Given the description of an element on the screen output the (x, y) to click on. 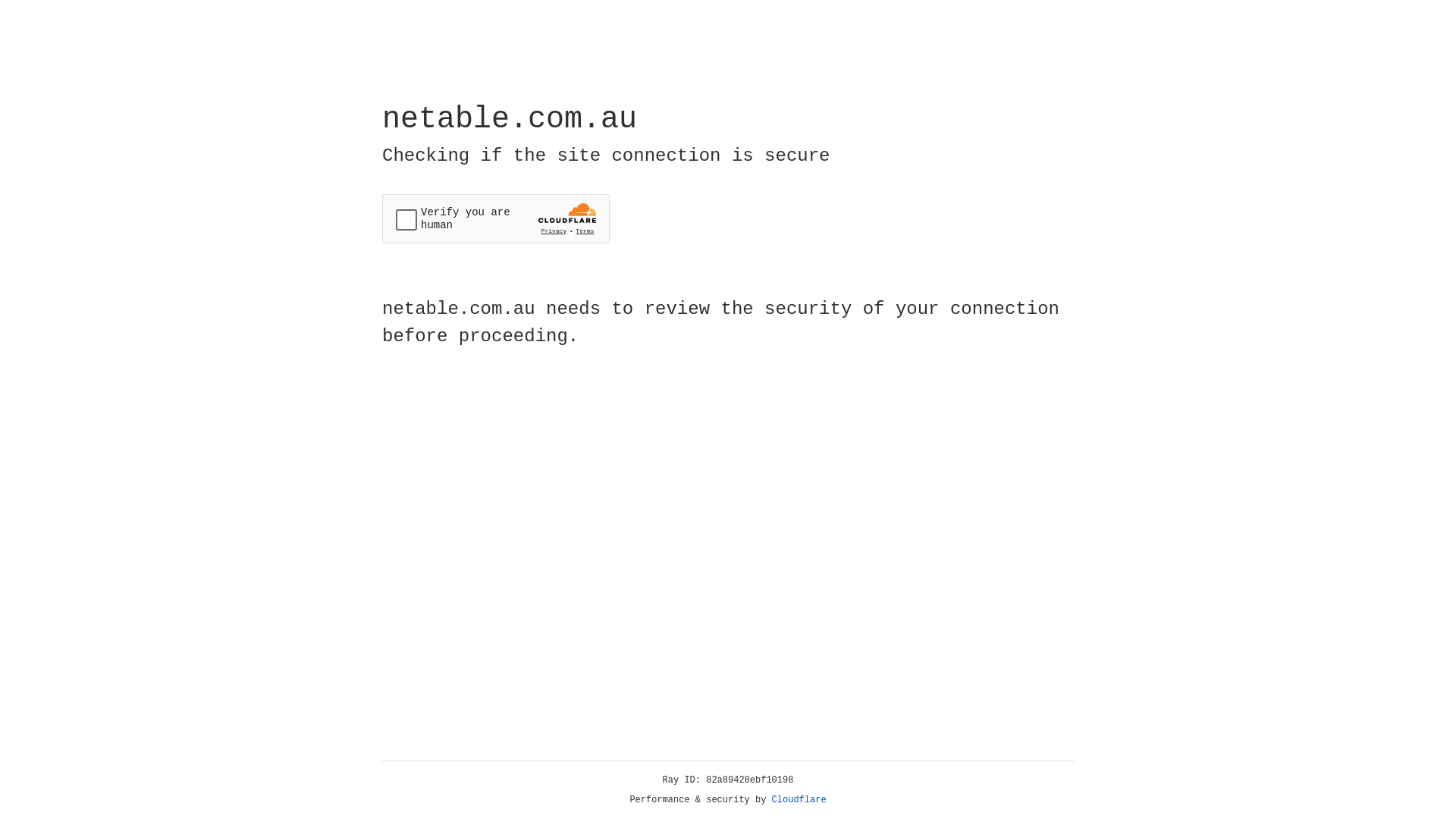
Widget containing a Cloudflare security challenge Element type: hover (495, 218)
Cloudflare Element type: text (798, 799)
